Given the description of an element on the screen output the (x, y) to click on. 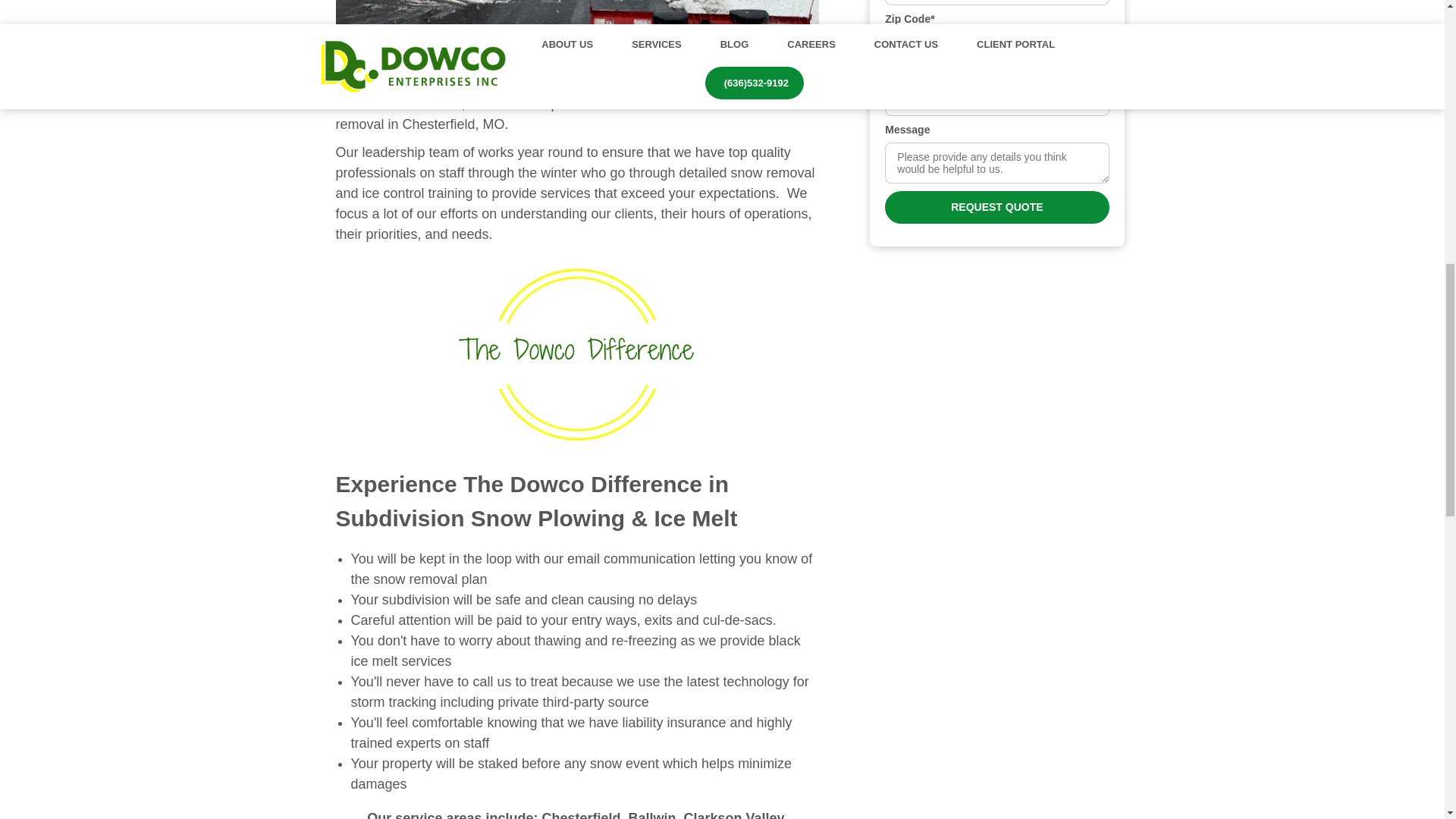
Request Quote (996, 206)
